Given the description of an element on the screen output the (x, y) to click on. 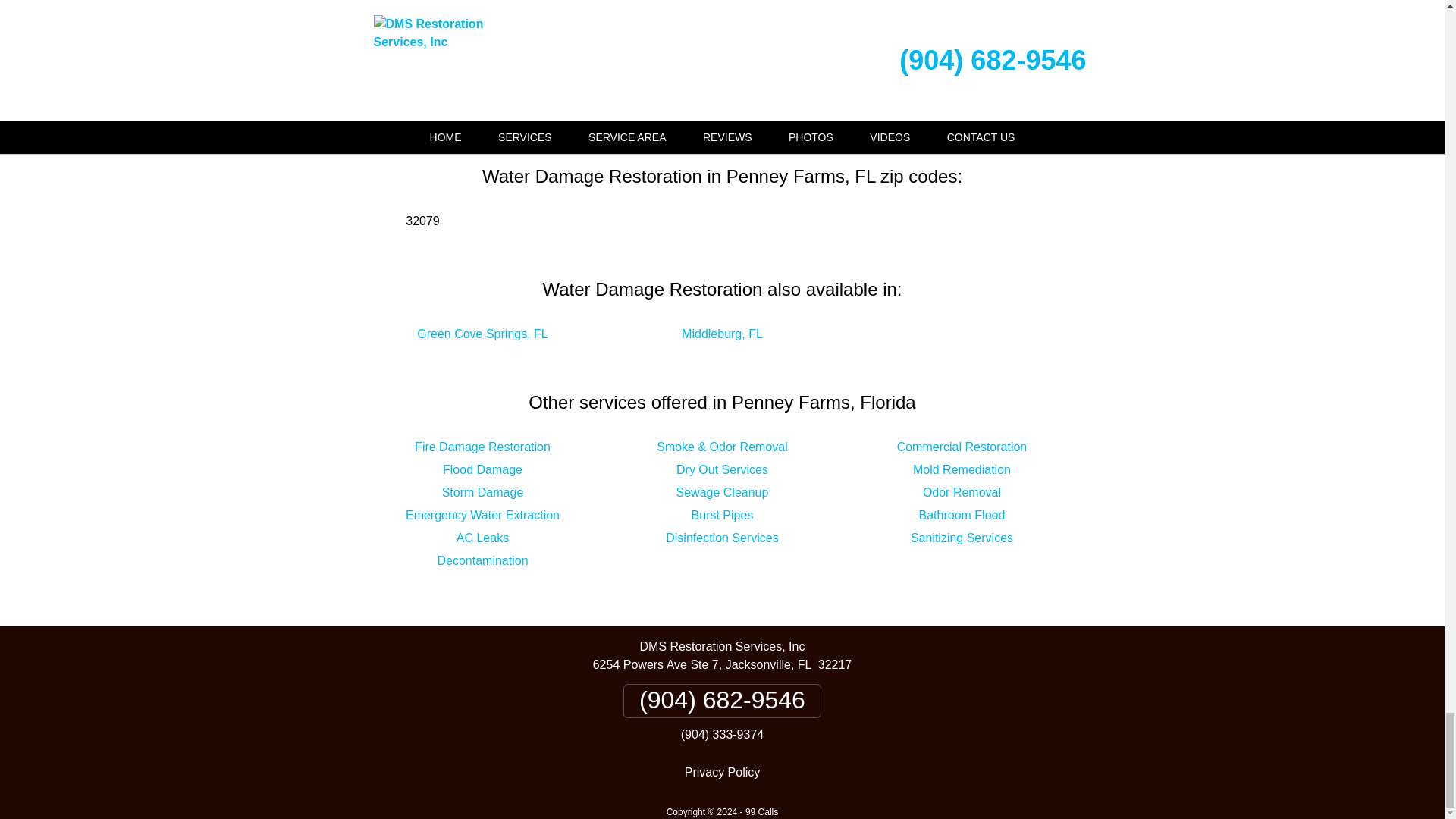
Yelp (736, 39)
Facebook (569, 39)
Google (662, 39)
YouTube (722, 81)
Houzz (806, 39)
Green Cove Springs, FL (482, 333)
Twitter (885, 39)
